Given the description of an element on the screen output the (x, y) to click on. 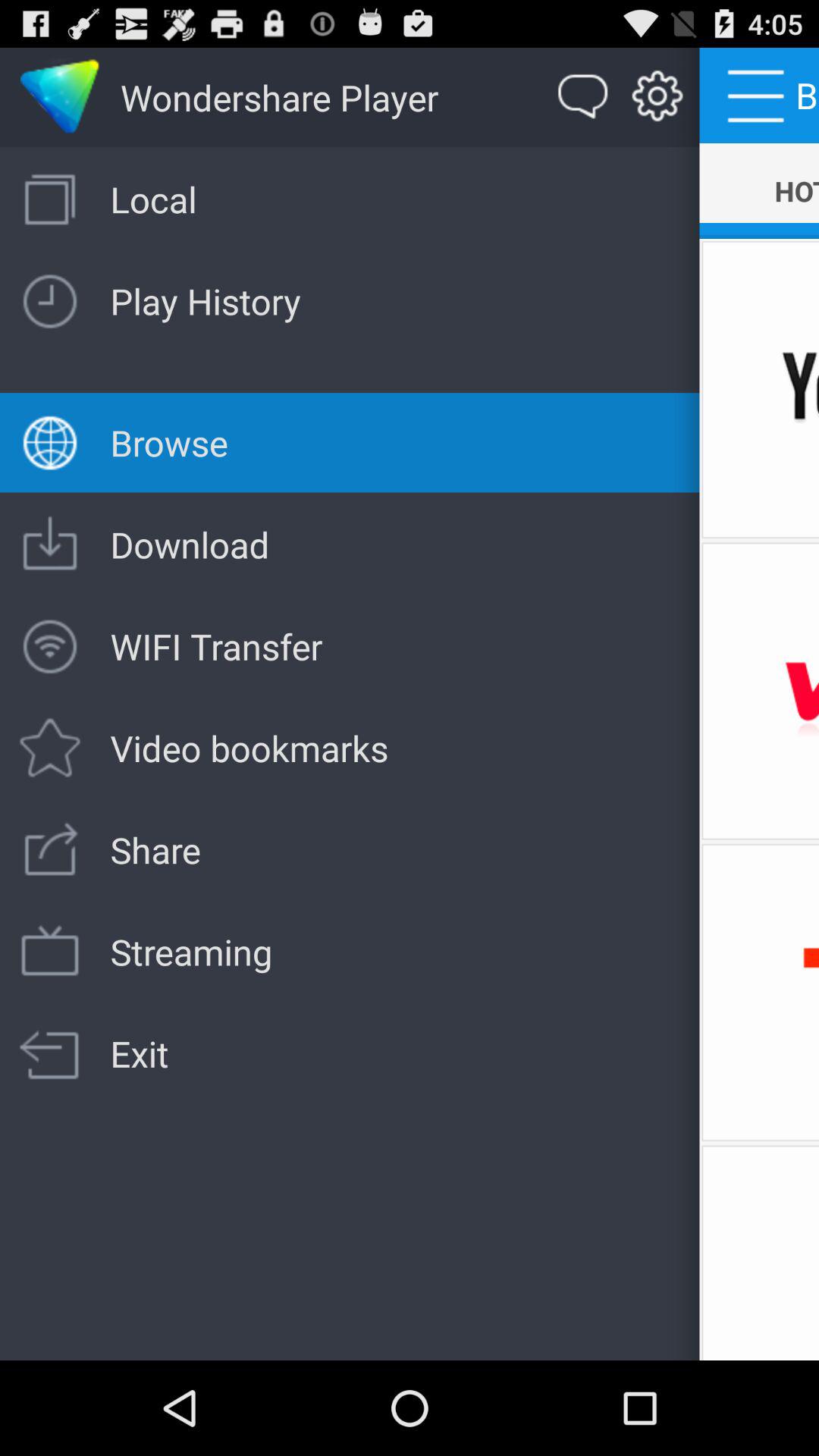
turn on the hot app (759, 190)
